Given the description of an element on the screen output the (x, y) to click on. 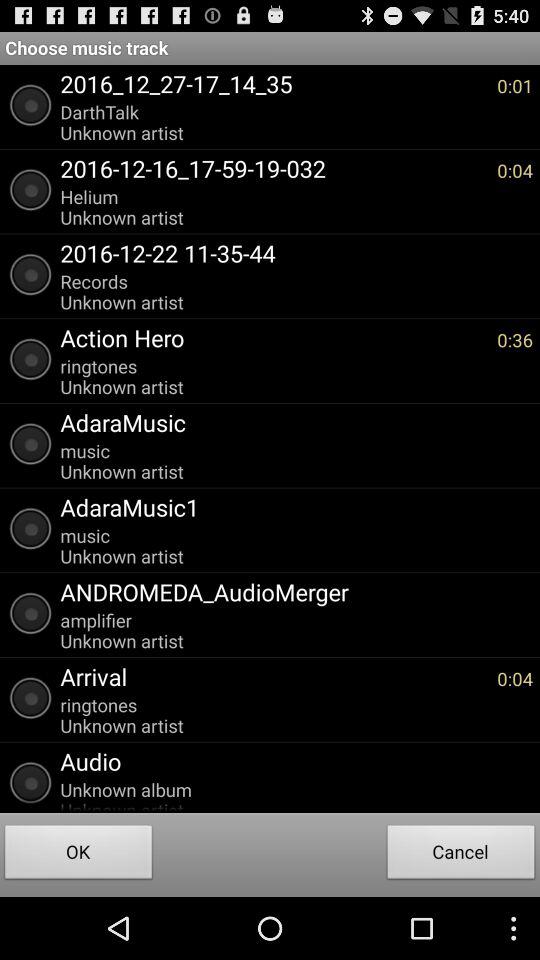
scroll until the adaramusic1 icon (291, 507)
